Given the description of an element on the screen output the (x, y) to click on. 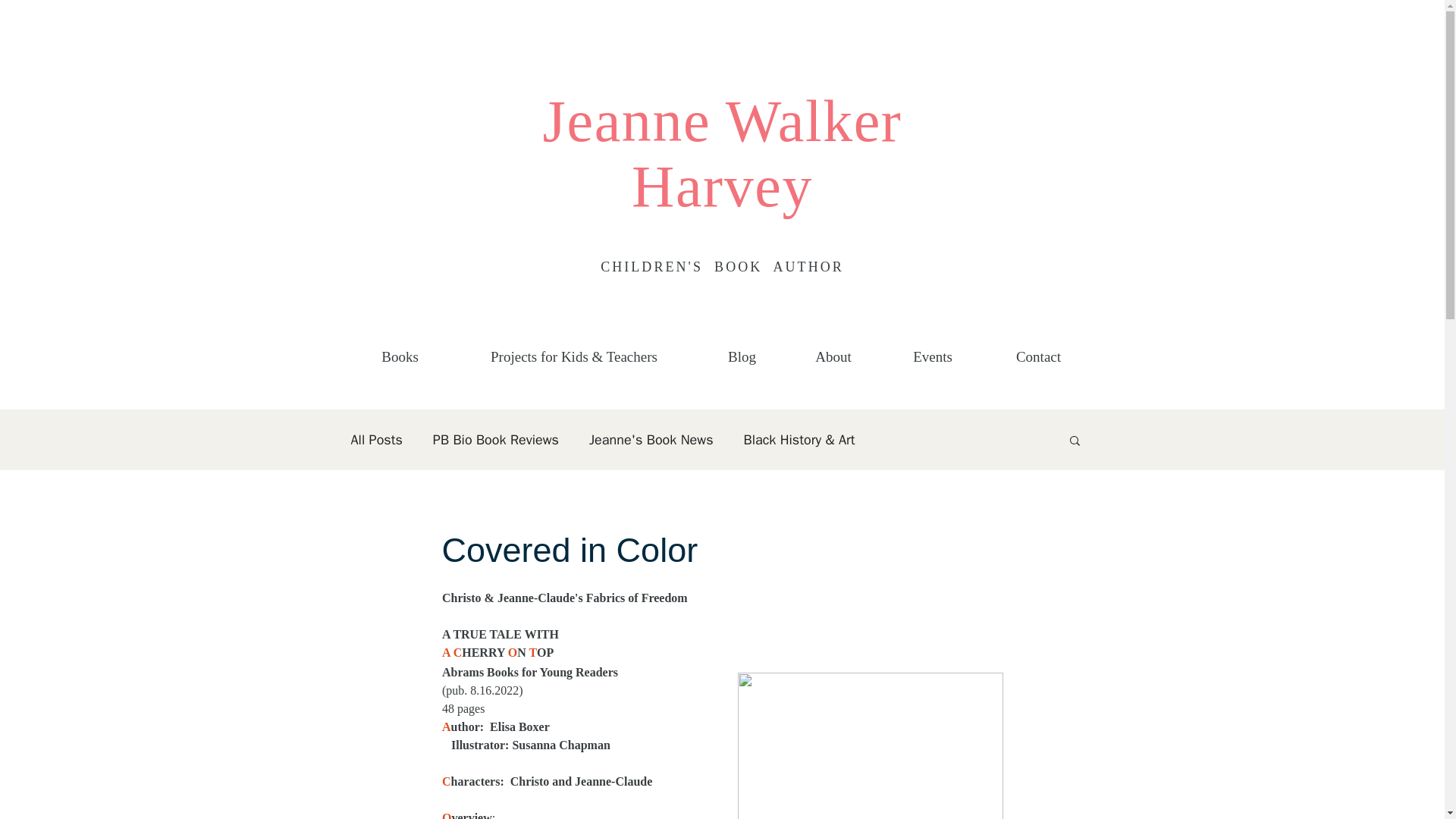
Books (399, 350)
Blog (742, 350)
Jeanne's Book News (651, 439)
About (834, 350)
Jeanne Walker Harvey (722, 153)
All Posts (375, 439)
Contact (1038, 350)
AUTHOR (808, 266)
Events (932, 350)
CHILDREN'S  BOOK  (686, 266)
